Given the description of an element on the screen output the (x, y) to click on. 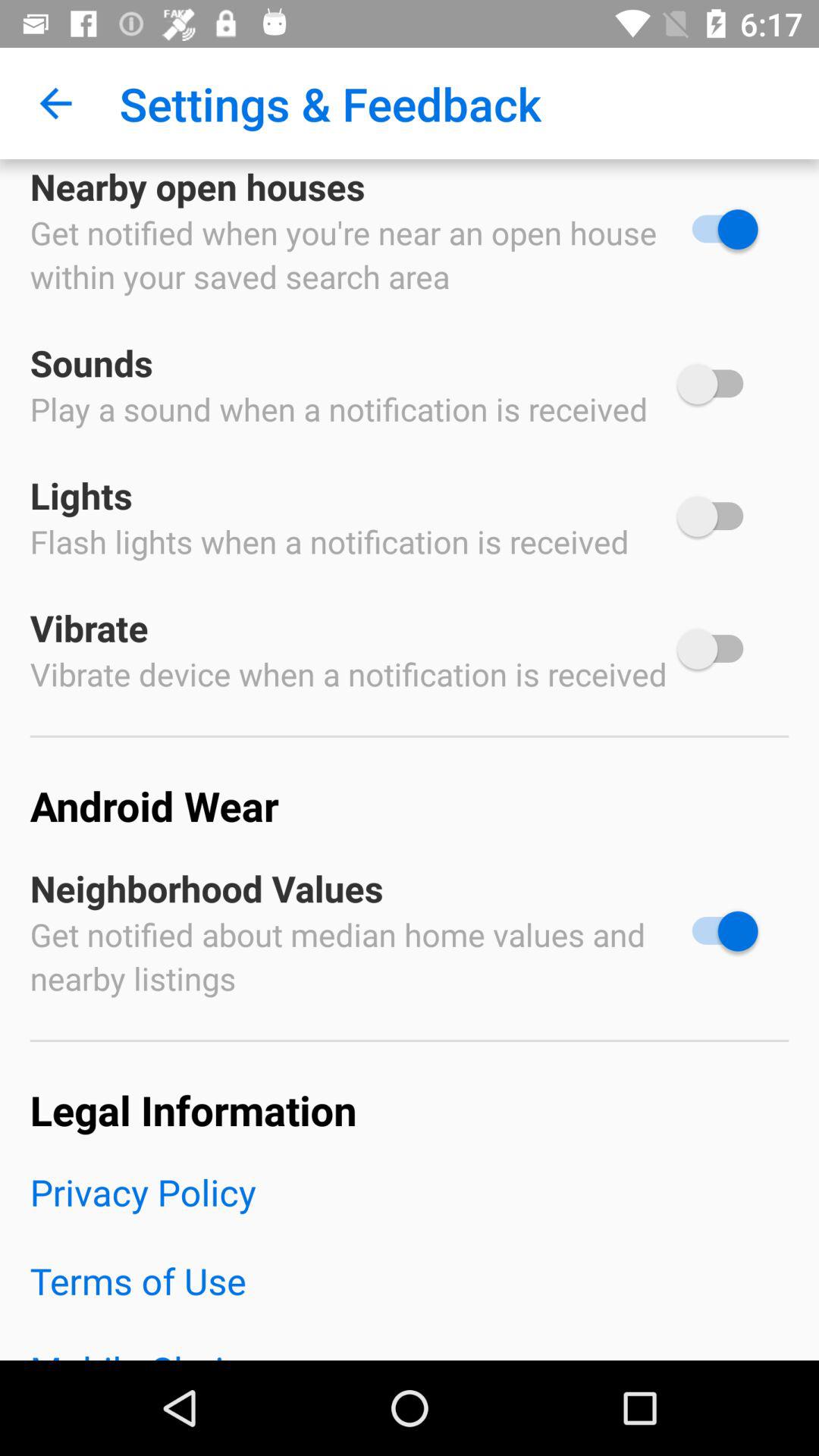
toggles vibrate option (717, 649)
